Given the description of an element on the screen output the (x, y) to click on. 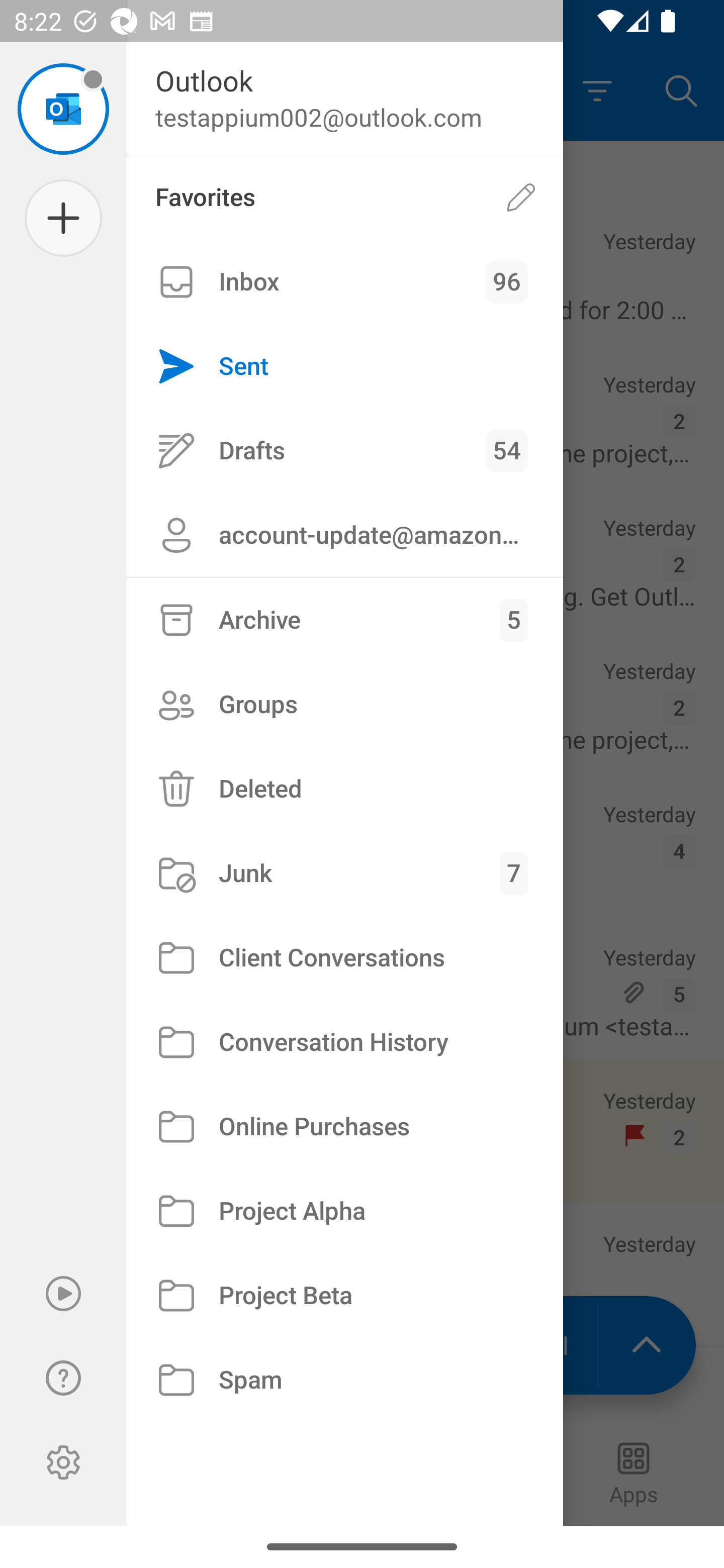
Edit favorites (520, 197)
Add account (63, 217)
Inbox Inbox, 96 unread emails (345, 281)
Sent Sent,Selected (345, 366)
Drafts Drafts, 54 unread emails (345, 450)
account-update@amazon.com (345, 534)
Archive Archive, 2 of 11, level 1, 5 unread emails (345, 619)
Groups Groups, 3 of 11, level 1 (345, 703)
Deleted Deleted, 4 of 11, level 1 (345, 788)
Junk Junk, 5 of 11, level 1, 7 unread emails (345, 873)
Project Alpha Project Alpha, 9 of 11, level 1 (345, 1210)
Play My Emails (62, 1293)
Project Beta Project Beta, 10 of 11, level 1 (345, 1294)
Help (62, 1377)
Spam Spam, 11 of 11, level 1 (345, 1379)
Settings (62, 1462)
